Given the description of an element on the screen output the (x, y) to click on. 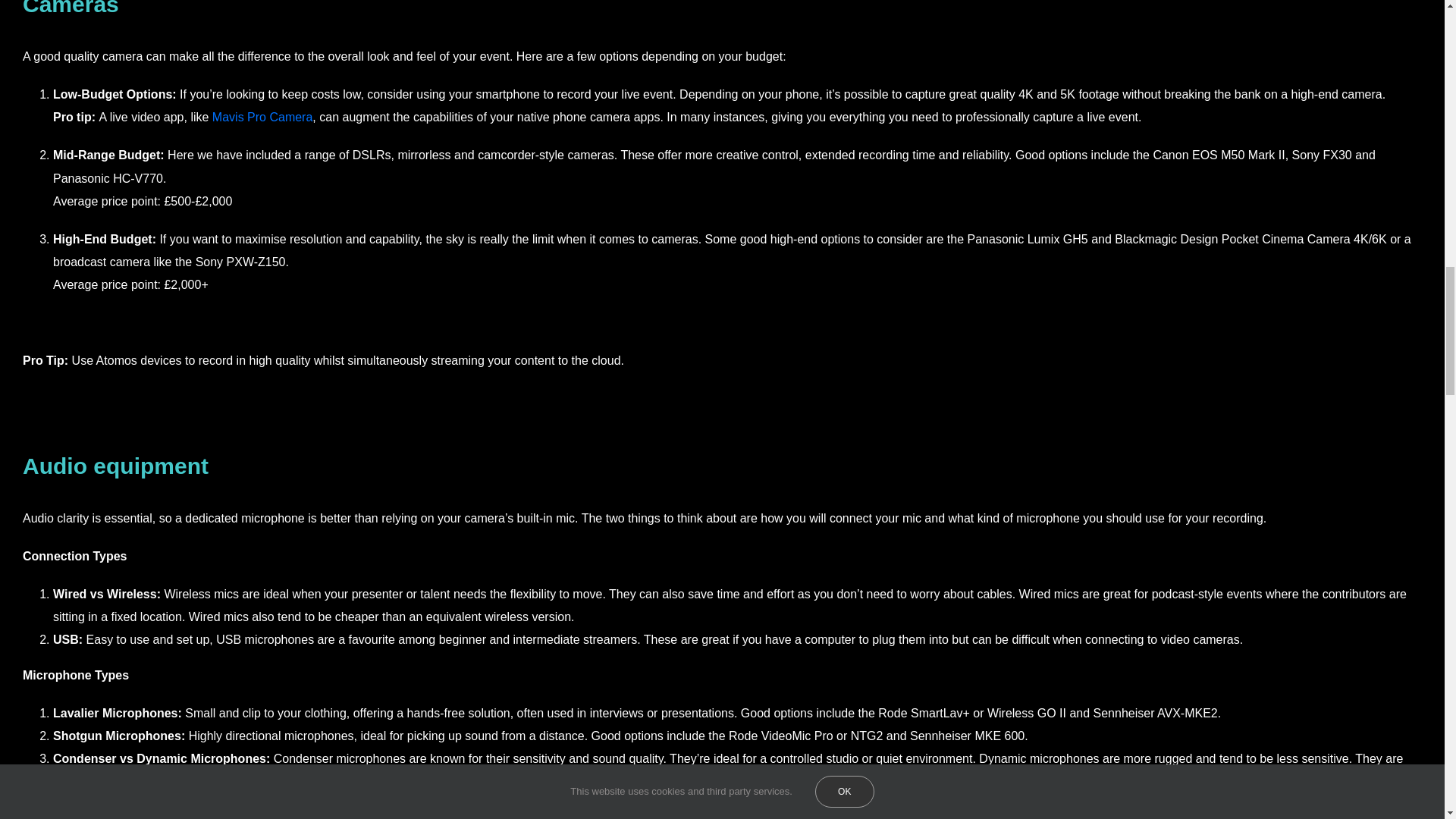
Mavis Pro Camera (262, 116)
